Given the description of an element on the screen output the (x, y) to click on. 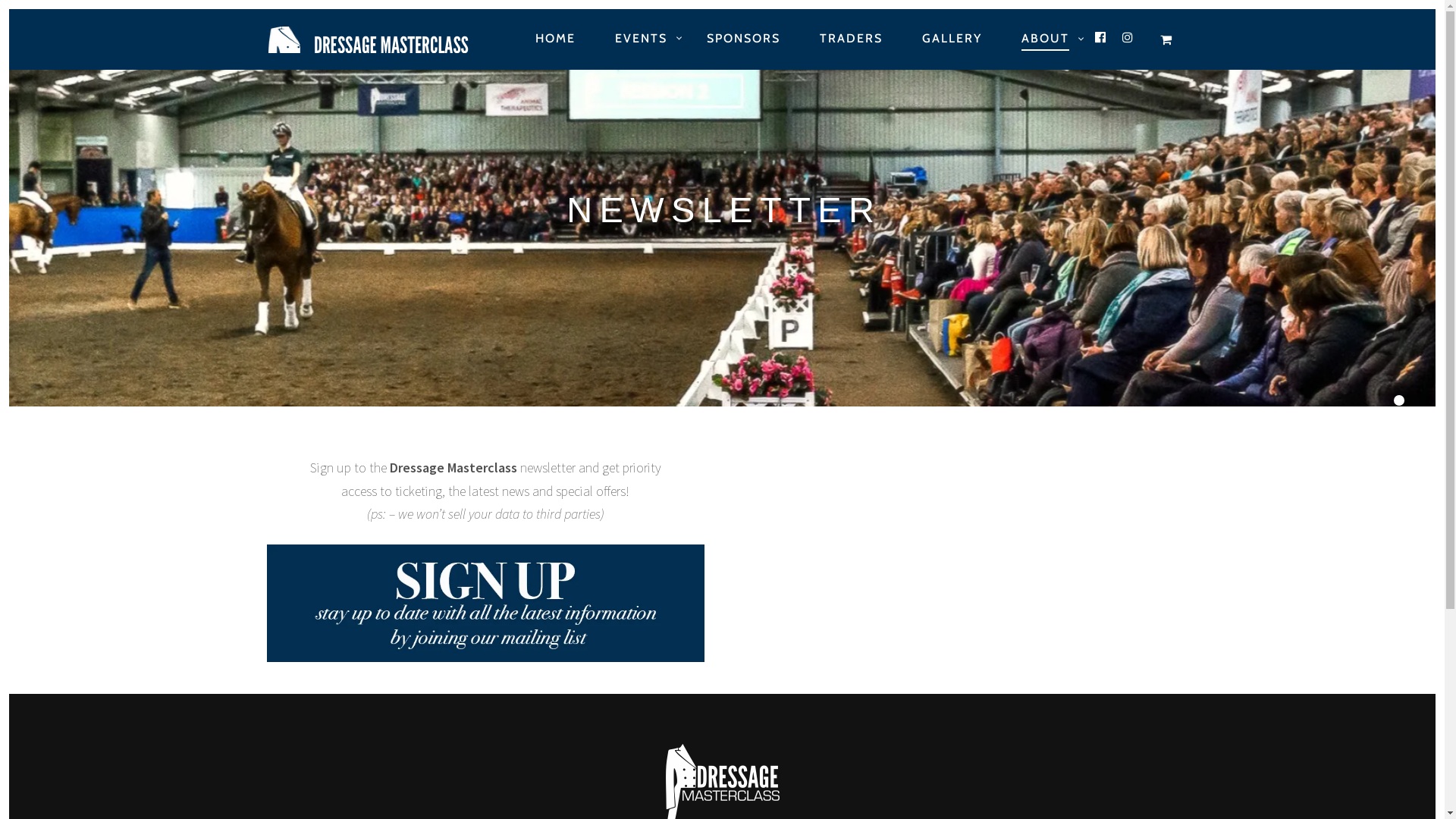
ABOUT Element type: text (1044, 38)
EVENTS Element type: text (640, 38)
FACEBOOK Element type: text (1100, 37)
TRADERS Element type: text (850, 38)
INSTAGRAM Element type: text (1128, 37)
GALLERY Element type: text (951, 38)
SPONSORS Element type: text (743, 38)
HOME Element type: text (555, 38)
Dressage Masterclass Element type: hover (377, 39)
